Given the description of an element on the screen output the (x, y) to click on. 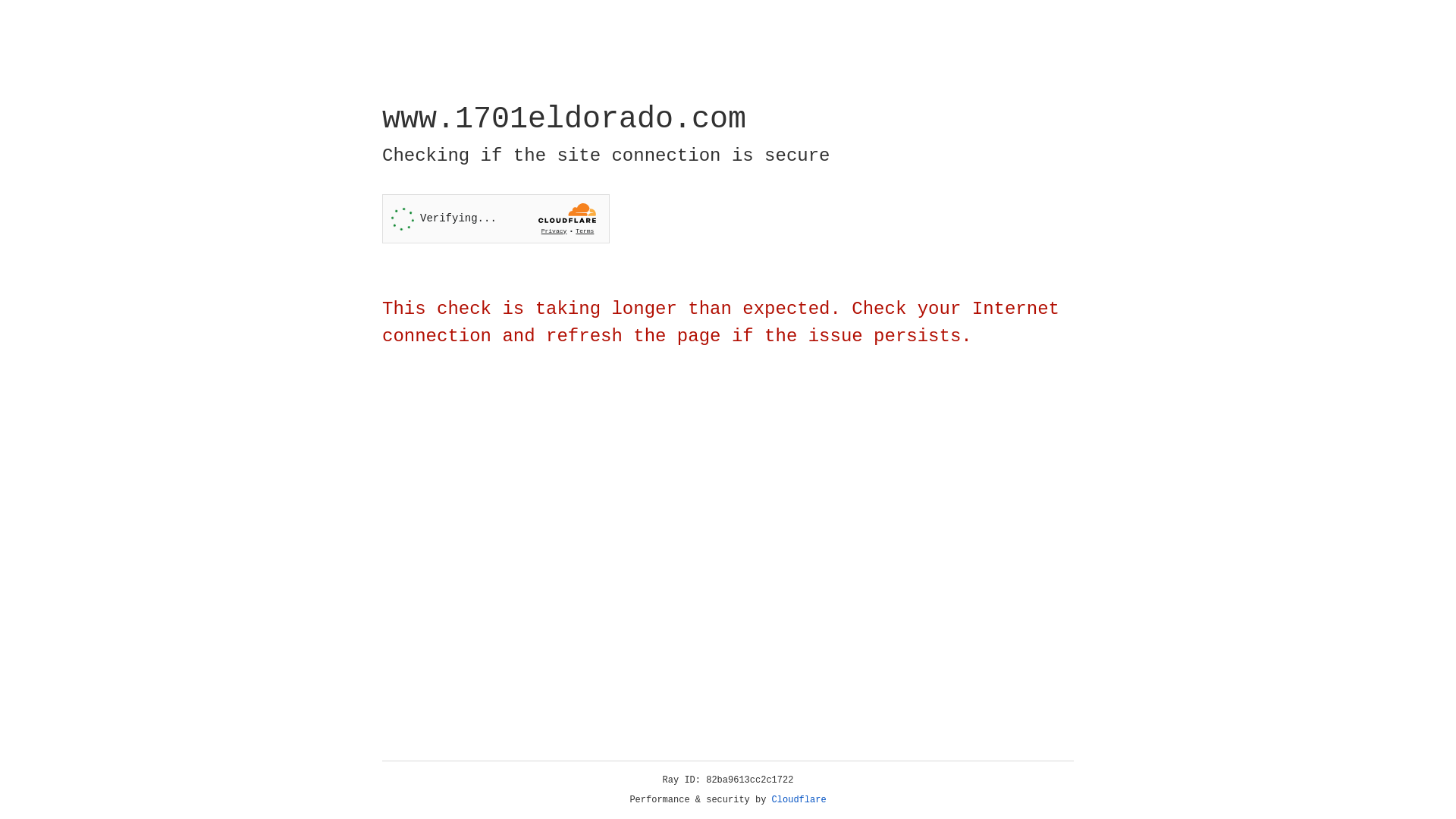
Widget containing a Cloudflare security challenge Element type: hover (495, 218)
Cloudflare Element type: text (798, 799)
